Given the description of an element on the screen output the (x, y) to click on. 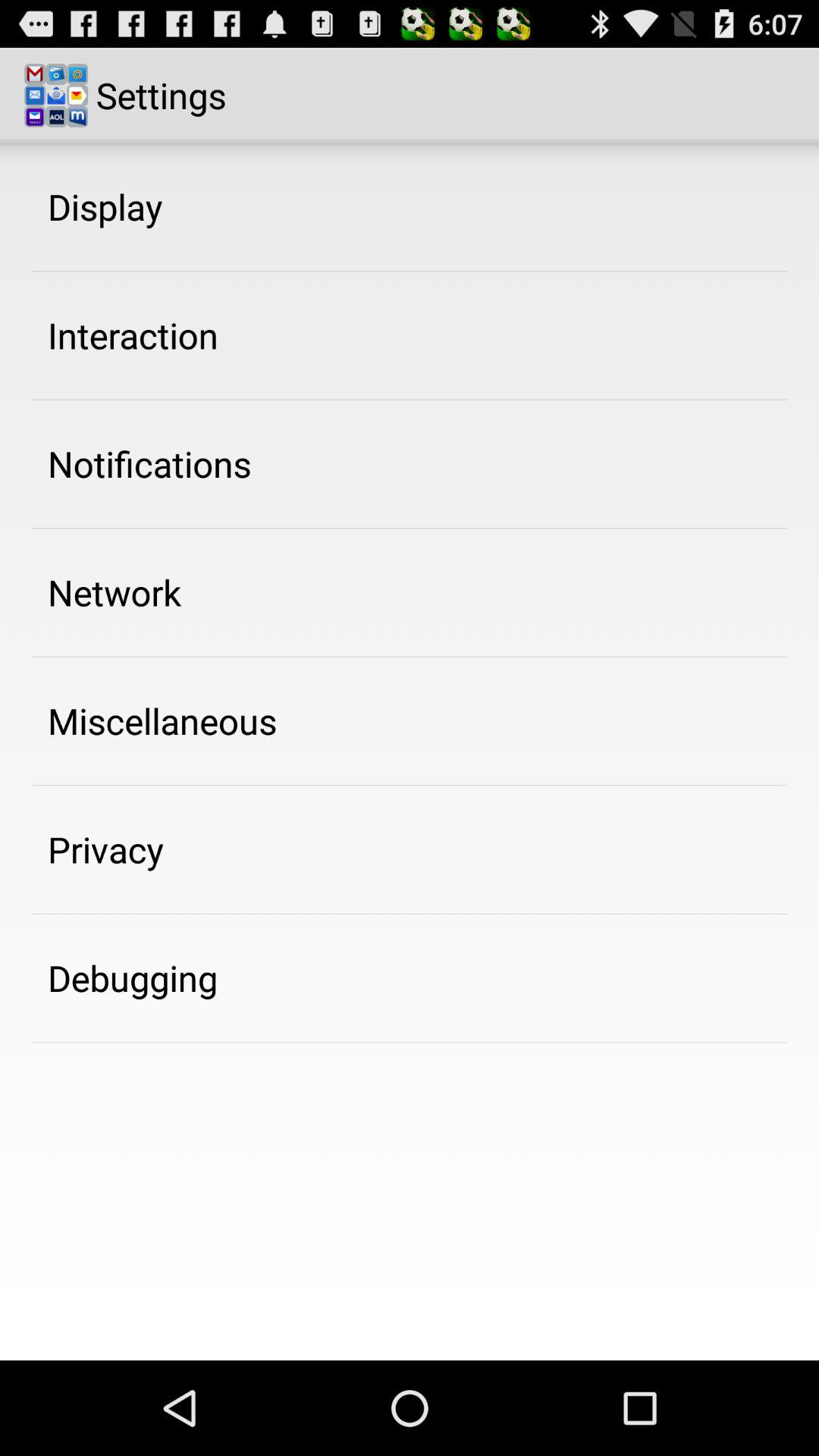
launch the icon below interaction (149, 463)
